Given the description of an element on the screen output the (x, y) to click on. 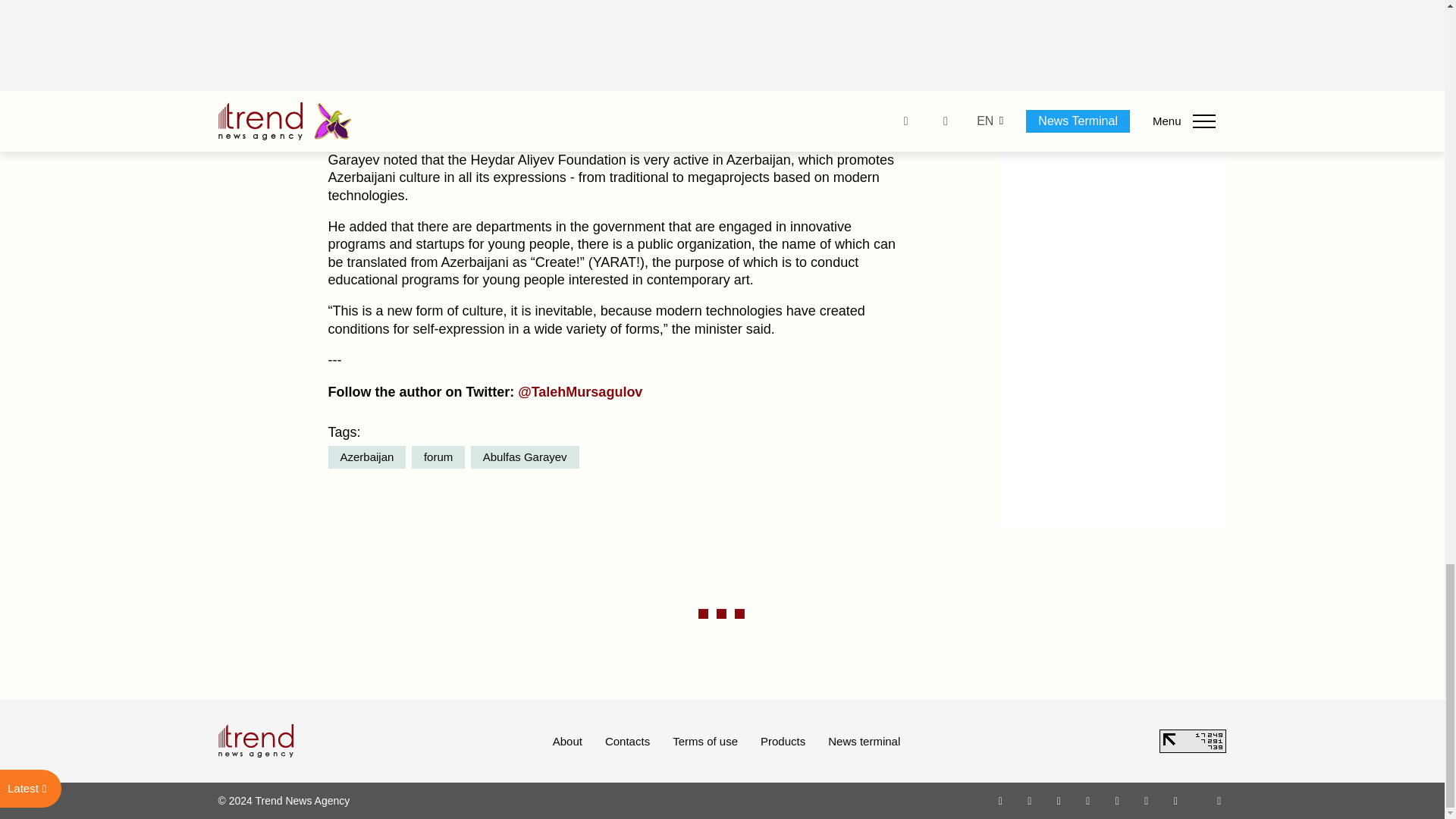
RSS Feed (1219, 800)
Facebook (1029, 800)
Youtube (1088, 800)
LinkedIn (1146, 800)
Twitter (1059, 800)
Telegram (1117, 800)
Whatsapp (1000, 800)
Android App (1176, 800)
